Given the description of an element on the screen output the (x, y) to click on. 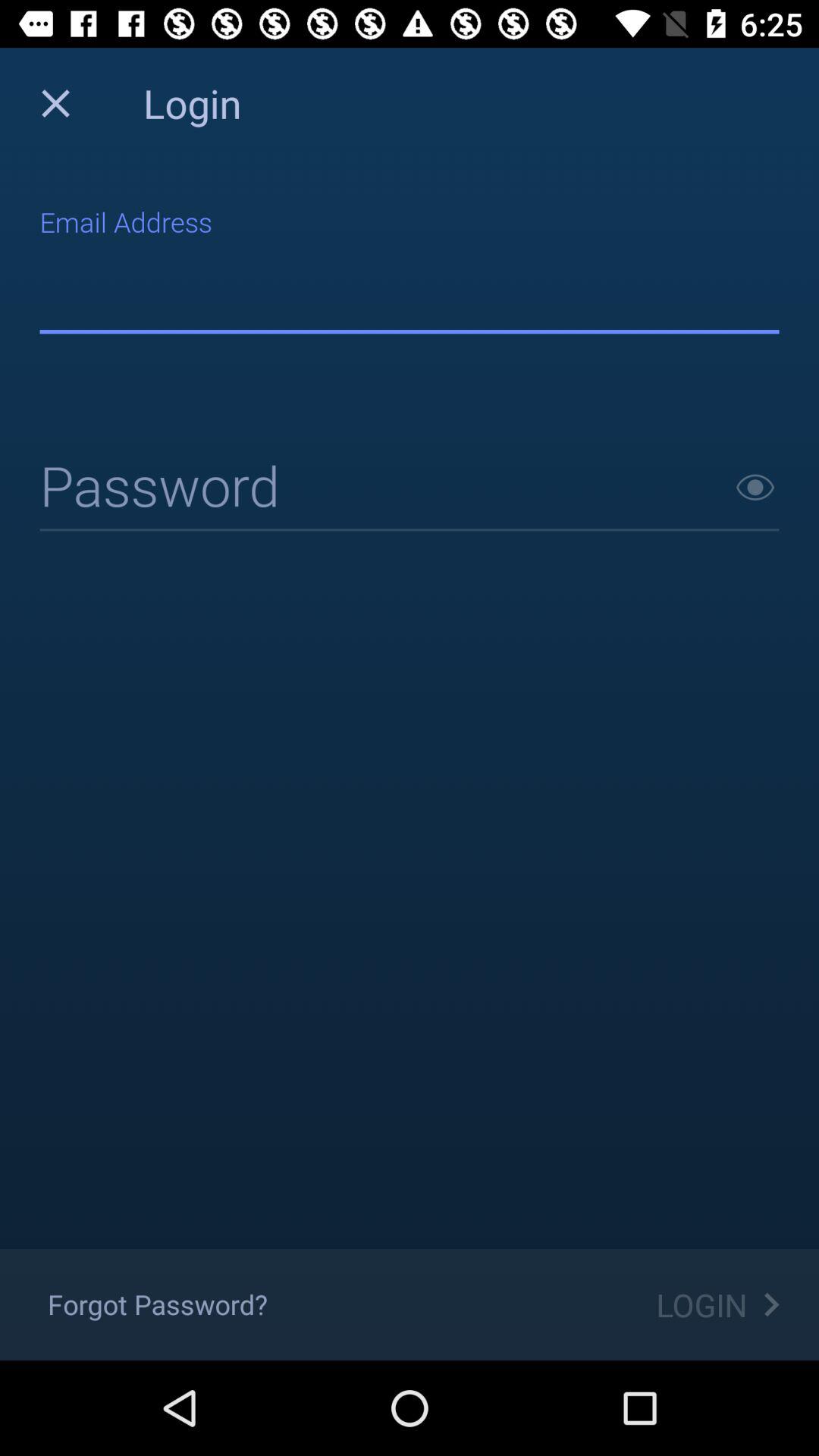
toggle password (755, 487)
